Given the description of an element on the screen output the (x, y) to click on. 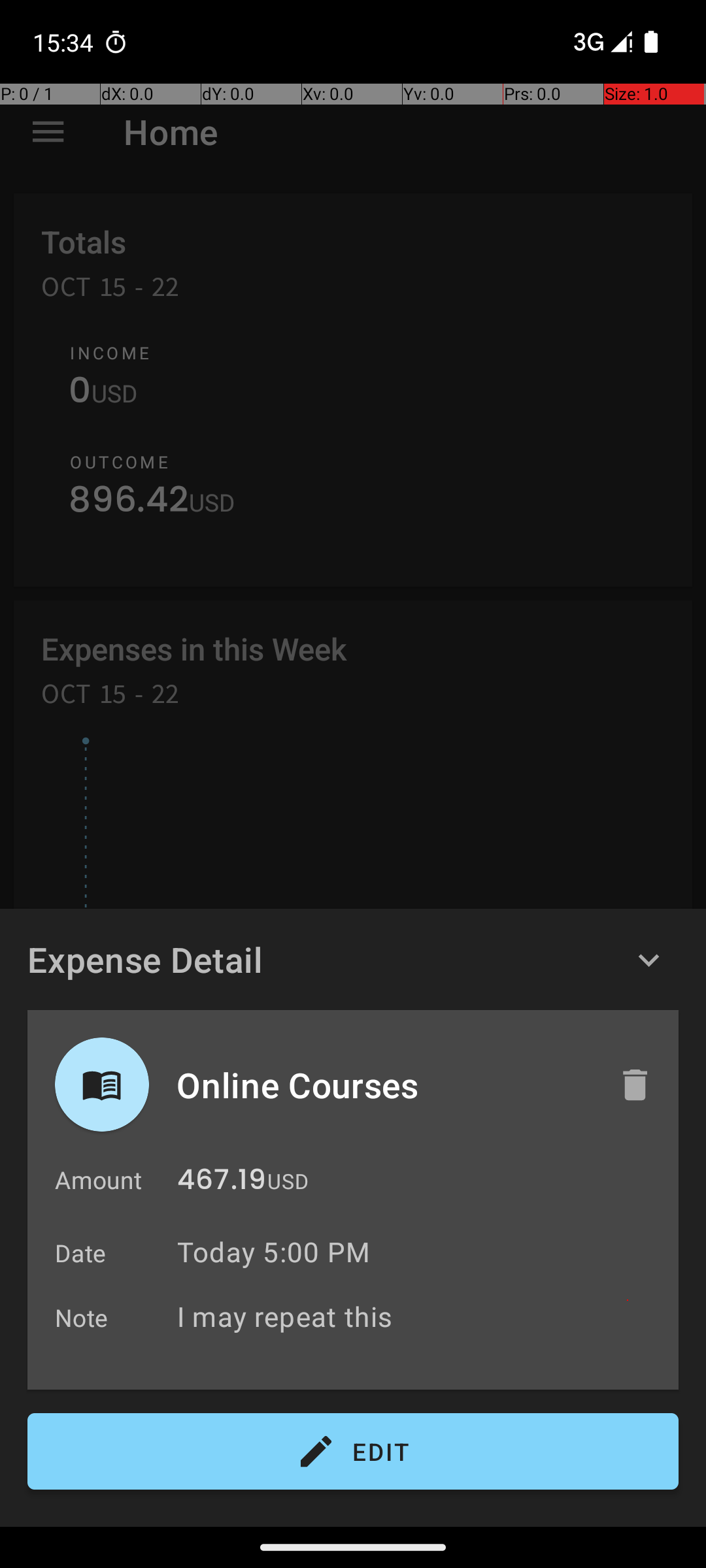
Online Courses Element type: android.widget.TextView (383, 1084)
467.19 Element type: android.widget.TextView (221, 1182)
